Given the description of an element on the screen output the (x, y) to click on. 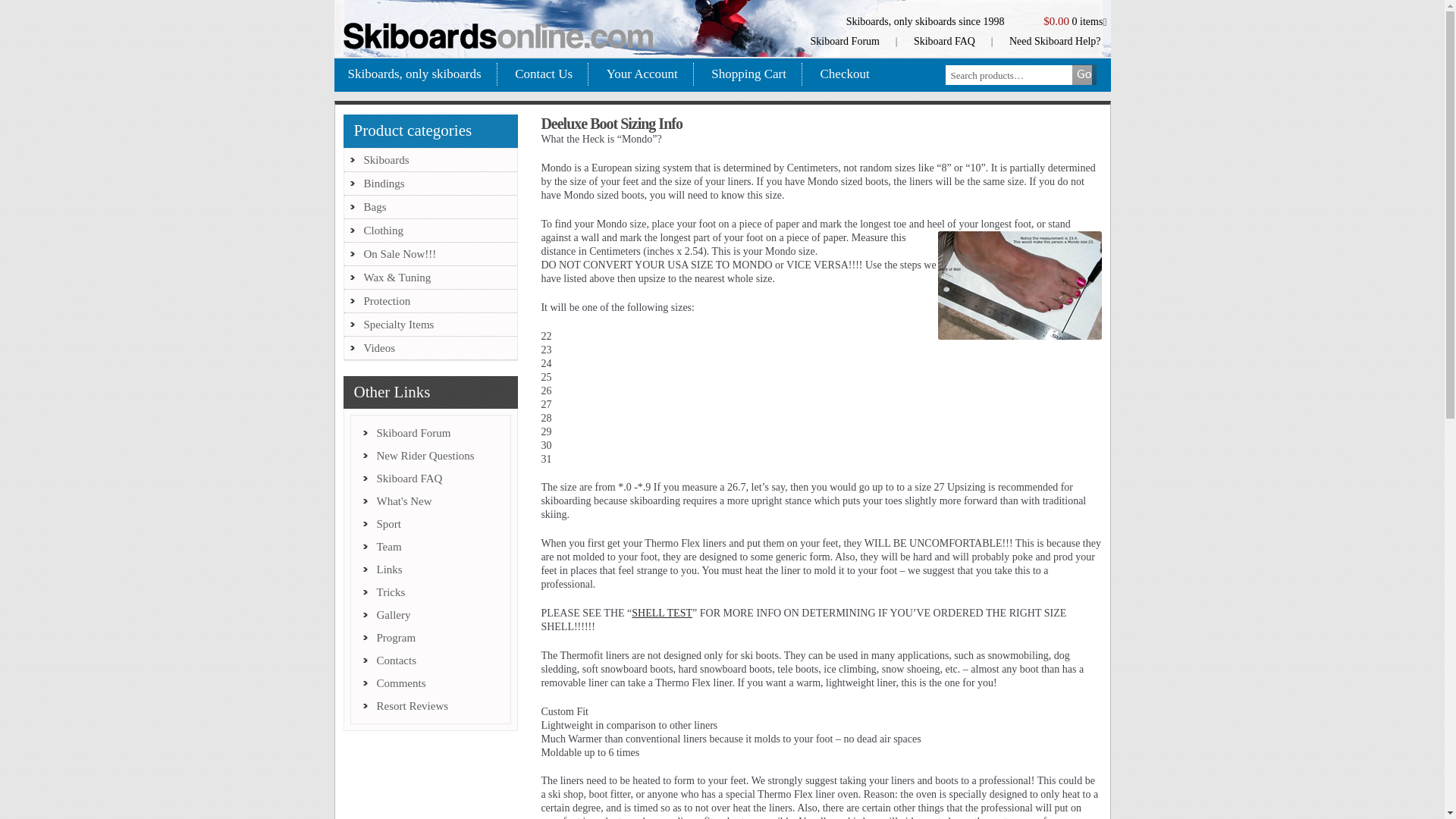
Skiboard Forum  (846, 41)
Protection (387, 300)
Skiboards (386, 159)
SHELL TEST (662, 613)
Bindings (384, 183)
Contact Us (543, 74)
Clothing (384, 230)
Shopping Cart (748, 74)
Skiboard FAQ (944, 41)
Checkout (845, 74)
Videos (380, 347)
Skiboards, only skiboards (421, 74)
Specialty Items (398, 324)
On Sale Now!!! (400, 254)
